Given the description of an element on the screen output the (x, y) to click on. 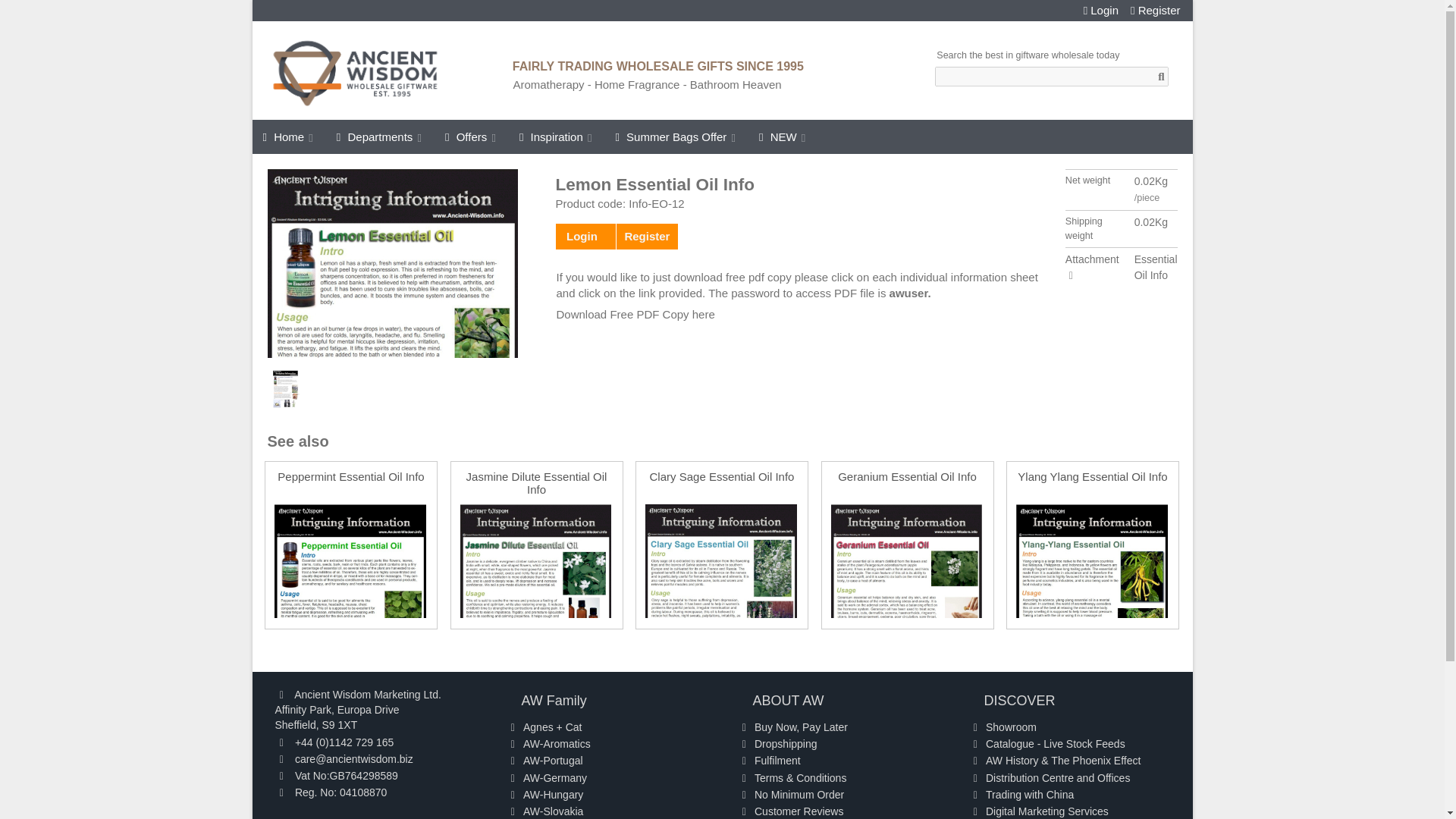
Register (1155, 10)
Login (1100, 10)
Offers (470, 136)
NEW (783, 136)
Inspiration (556, 136)
Departments (379, 136)
Home (287, 136)
Summer Bags Offer (676, 136)
